Given the description of an element on the screen output the (x, y) to click on. 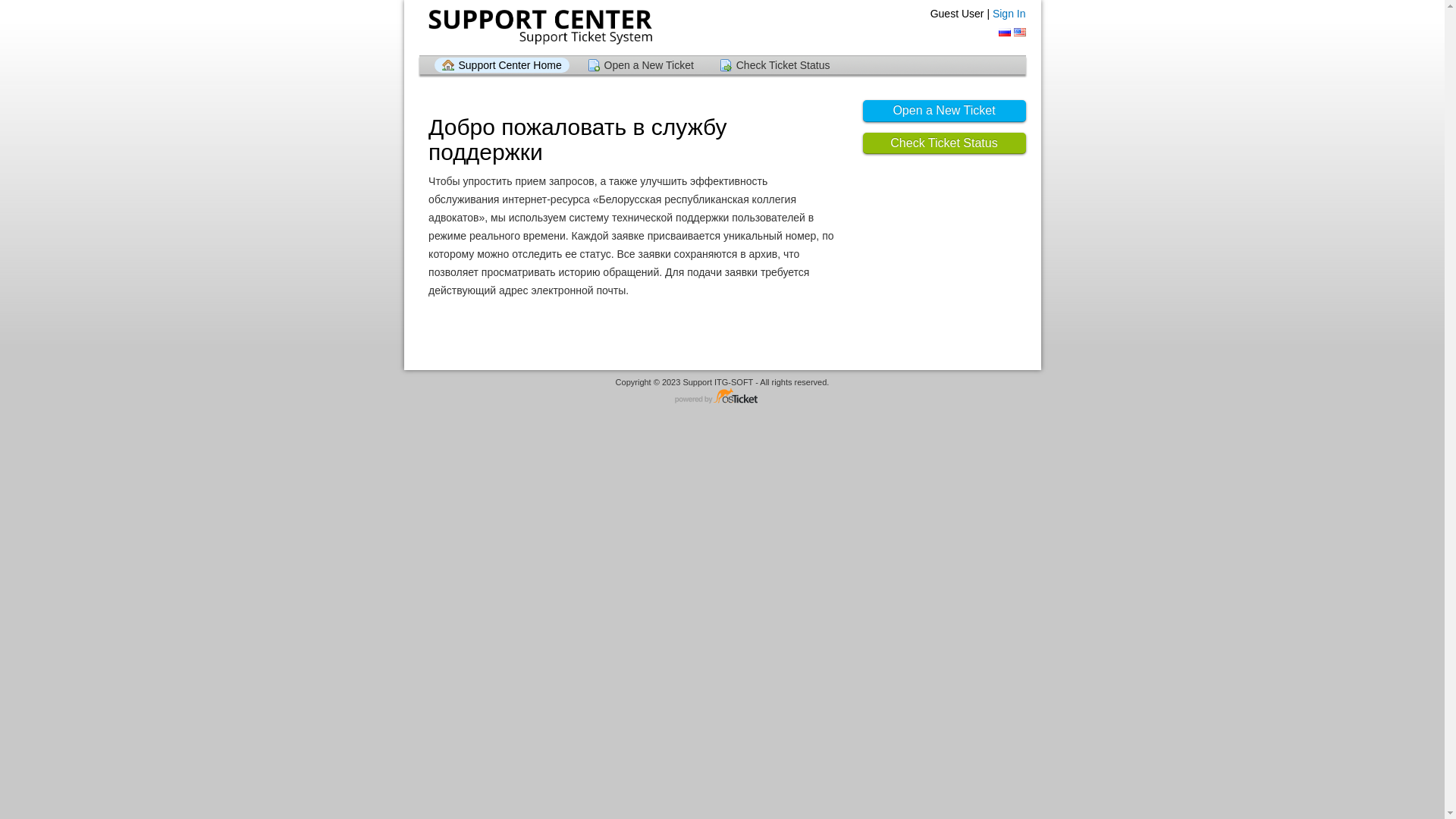
Support Center Element type: hover (538, 26)
Check Ticket Status Element type: text (774, 64)
Open a New Ticket Element type: text (944, 111)
Helpdesk software - powered by osTicket Element type: text (722, 396)
English (United States) Element type: hover (1019, 32)
Open a New Ticket Element type: text (640, 64)
Sign In Element type: text (1009, 13)
  Element type: text (1004, 32)
Support Center Home Element type: text (500, 64)
  Element type: text (1019, 32)
Check Ticket Status Element type: text (944, 143)
